Given the description of an element on the screen output the (x, y) to click on. 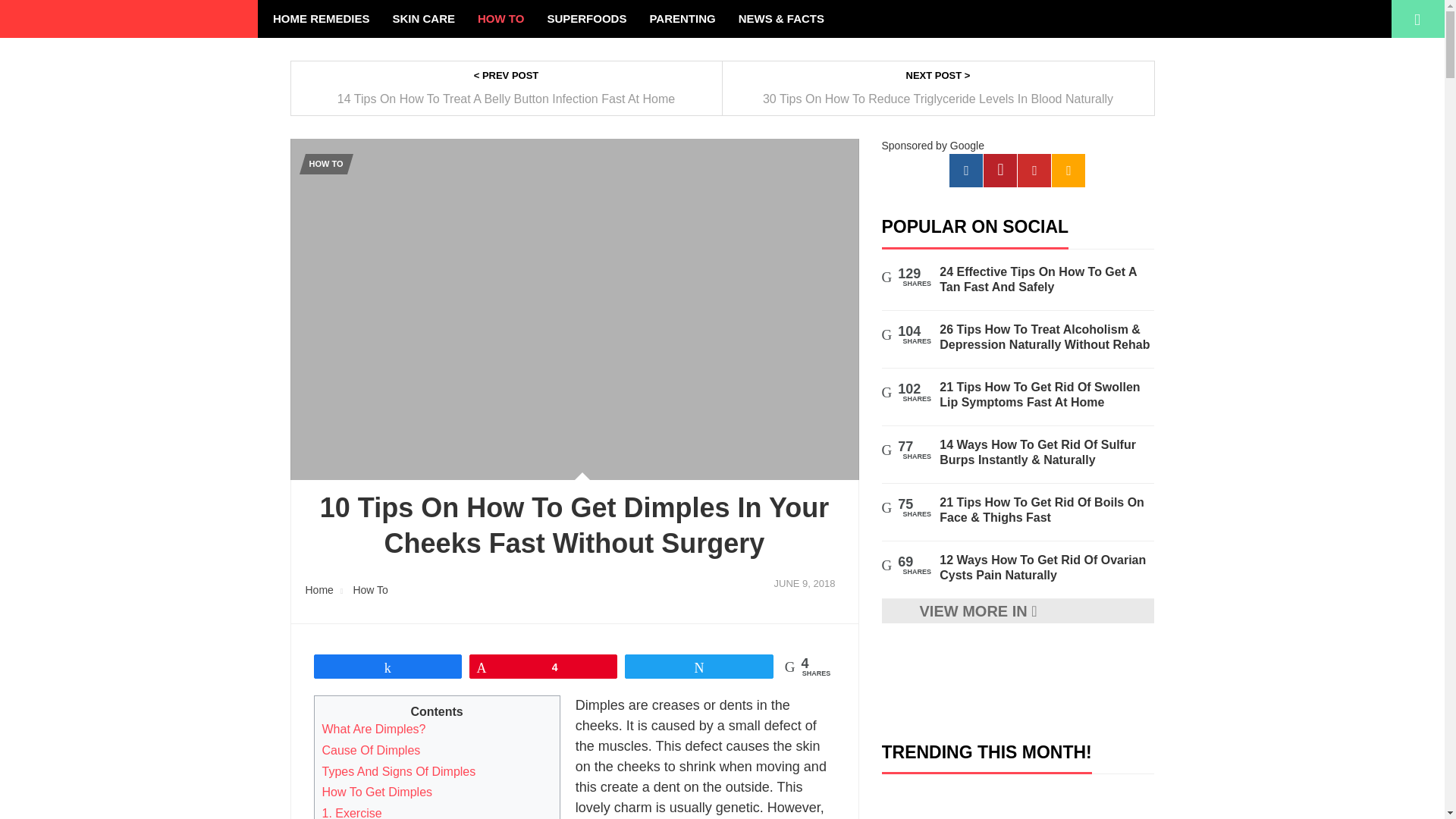
1. Exercise (351, 812)
Types And Signs Of Dimples (398, 771)
HOME REMEDIES (321, 18)
SKIN CARE (424, 18)
What Are Dimples? (373, 728)
How To (369, 589)
4 (542, 666)
How To Get Dimples (376, 791)
Home (318, 589)
SUPERFOODS (586, 18)
HOW TO (500, 18)
Cause Of Dimples (370, 749)
PARENTING (681, 18)
HOW TO (325, 163)
